Given the description of an element on the screen output the (x, y) to click on. 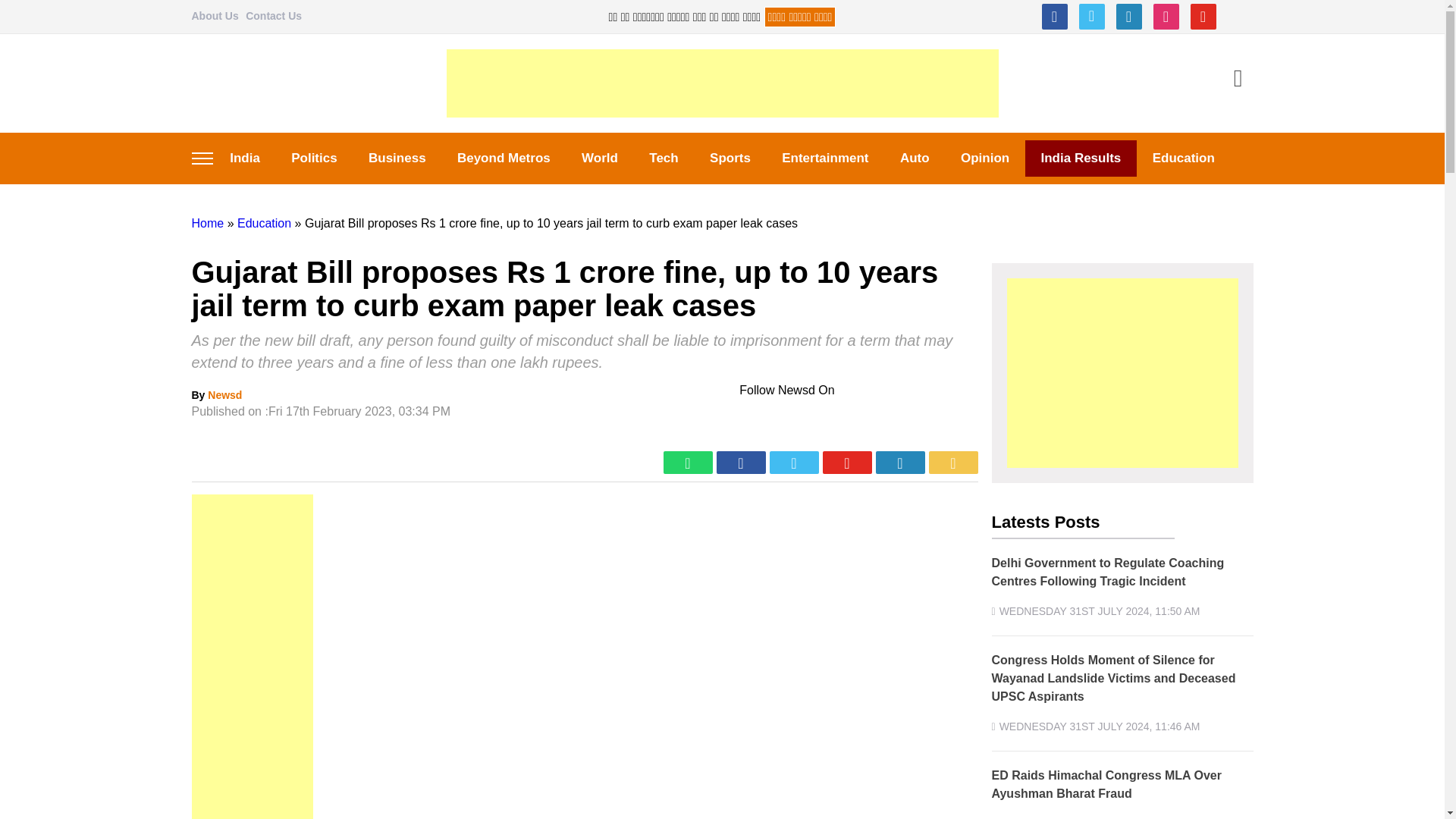
Politics (314, 158)
Education (264, 223)
About Us (214, 15)
Tech (663, 158)
Newsd (224, 395)
Contact Us (273, 15)
Youtube (1203, 16)
Beyond Metros (503, 158)
Search (1237, 79)
World (599, 158)
Education (1183, 158)
Auto (913, 158)
Opinion (984, 158)
Entertainment (826, 158)
Linkedin (1128, 16)
